Given the description of an element on the screen output the (x, y) to click on. 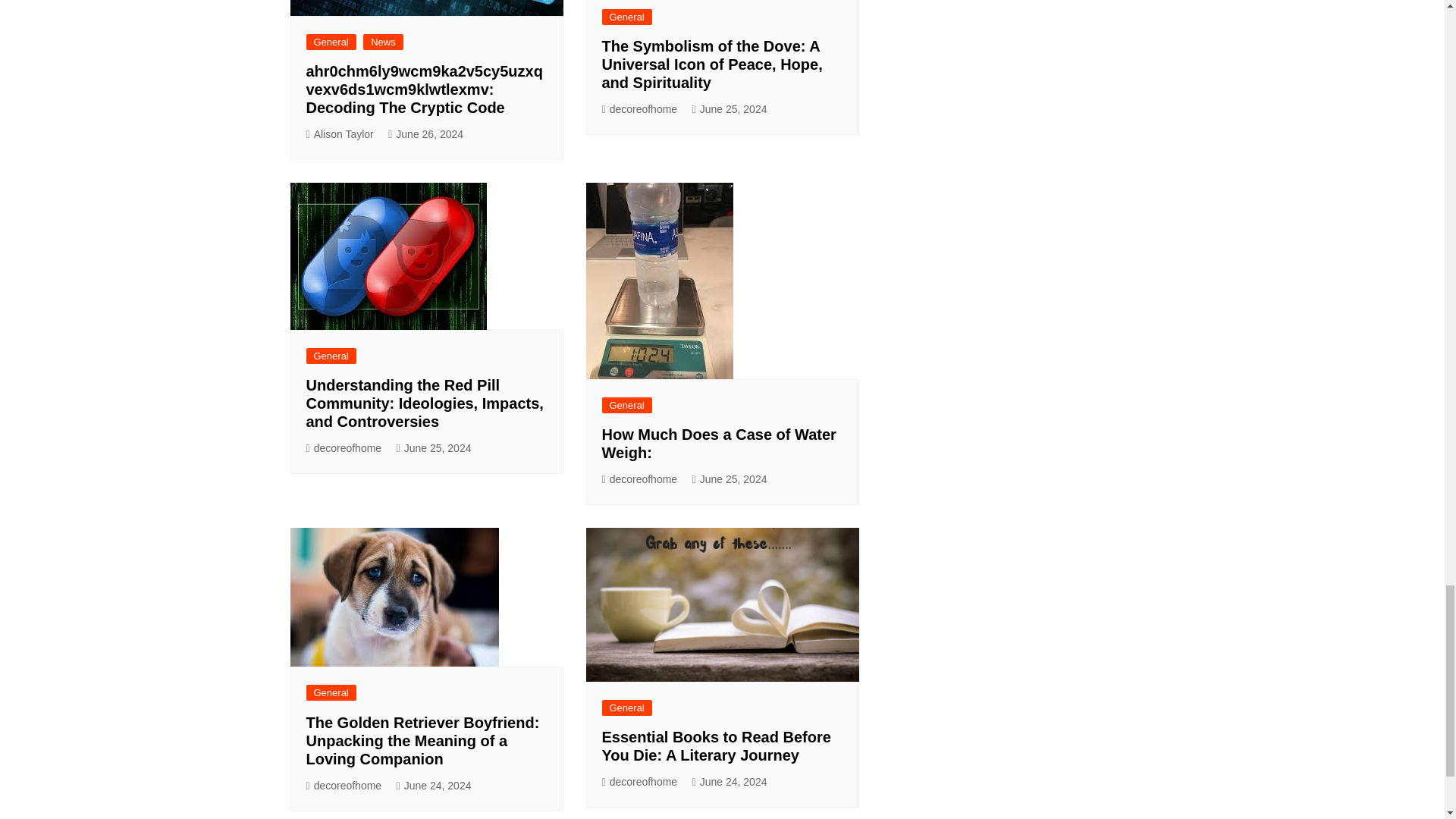
June 26, 2024 (425, 134)
General (627, 17)
Alison Taylor (339, 134)
General (330, 41)
News (382, 41)
